Given the description of an element on the screen output the (x, y) to click on. 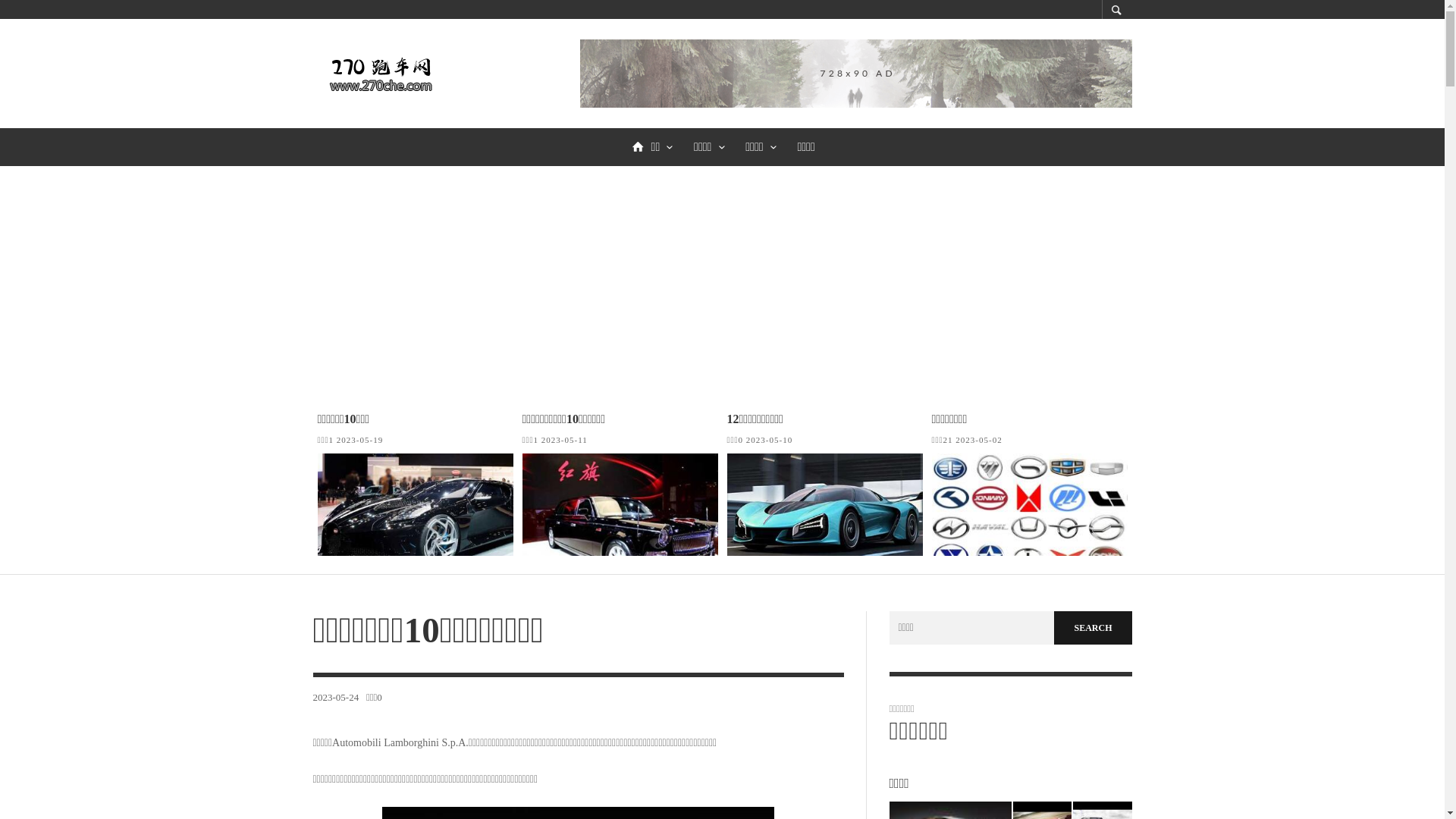
Search Element type: text (1092, 627)
Advertisement Element type: hover (721, 279)
